Given the description of an element on the screen output the (x, y) to click on. 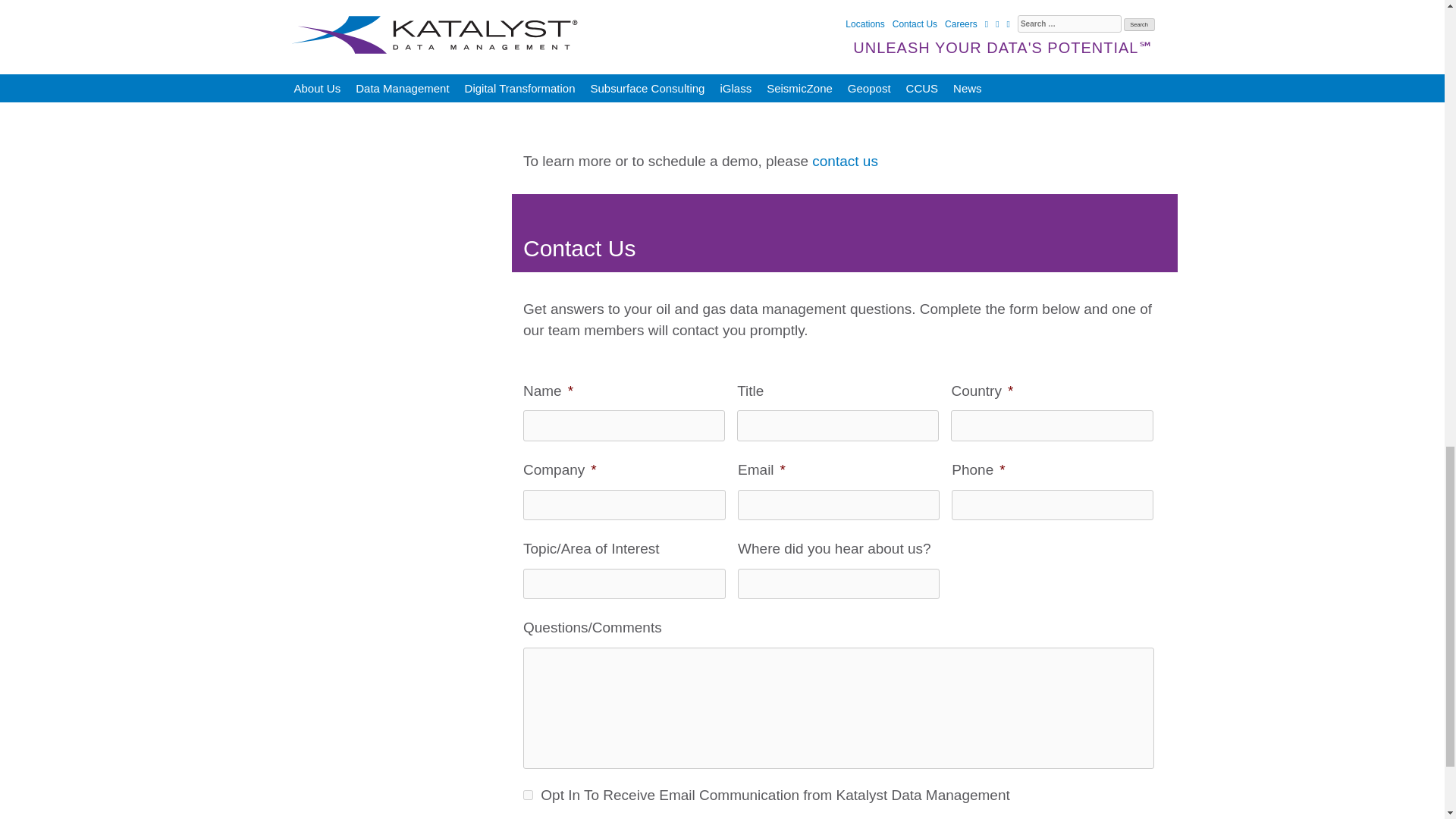
1 (527, 795)
